Given the description of an element on the screen output the (x, y) to click on. 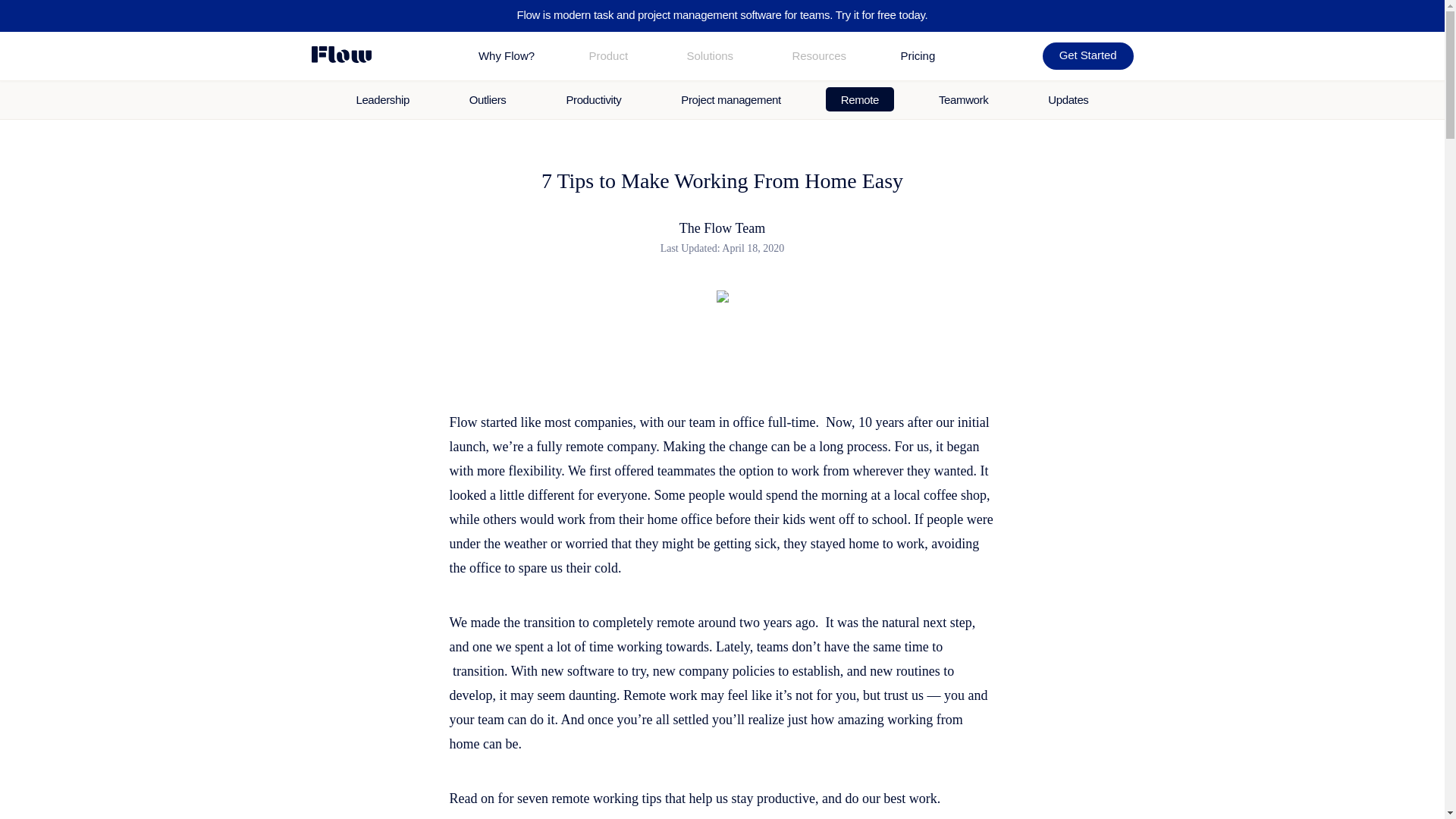
Solutions (709, 55)
Product (607, 55)
Why Flow? (506, 55)
